Given the description of an element on the screen output the (x, y) to click on. 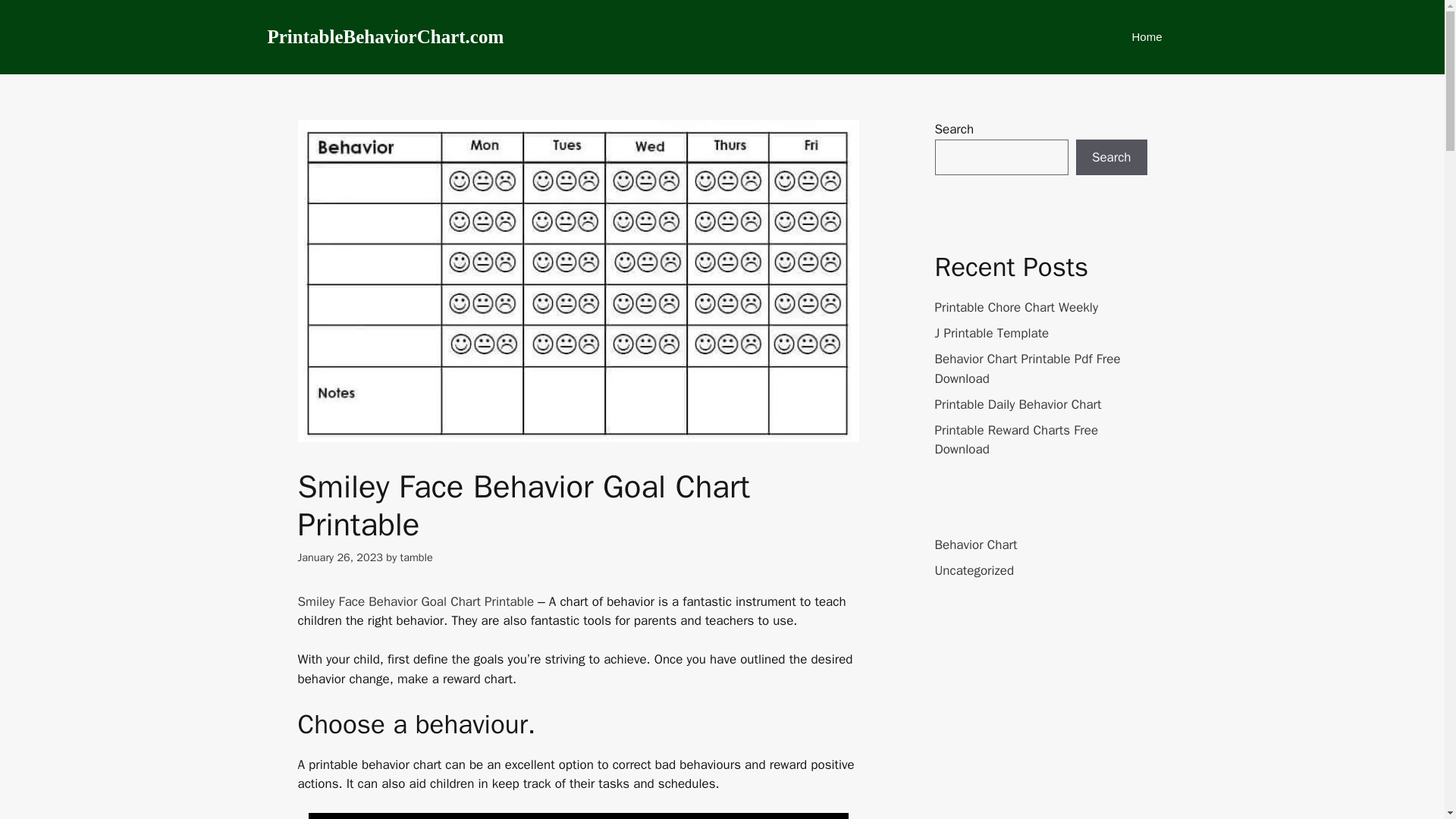
Home (1146, 36)
Printable Chore Chart Weekly (1015, 307)
Smiley Face Behavior Goal Chart Printable (415, 601)
View all posts by tamble (416, 557)
Printable Daily Behavior Chart (1017, 403)
tamble (416, 557)
J Printable Template (991, 333)
Uncategorized (973, 570)
Behavior Chart (975, 544)
Behavior Chart Printable Pdf Free Download (1026, 368)
